Given the description of an element on the screen output the (x, y) to click on. 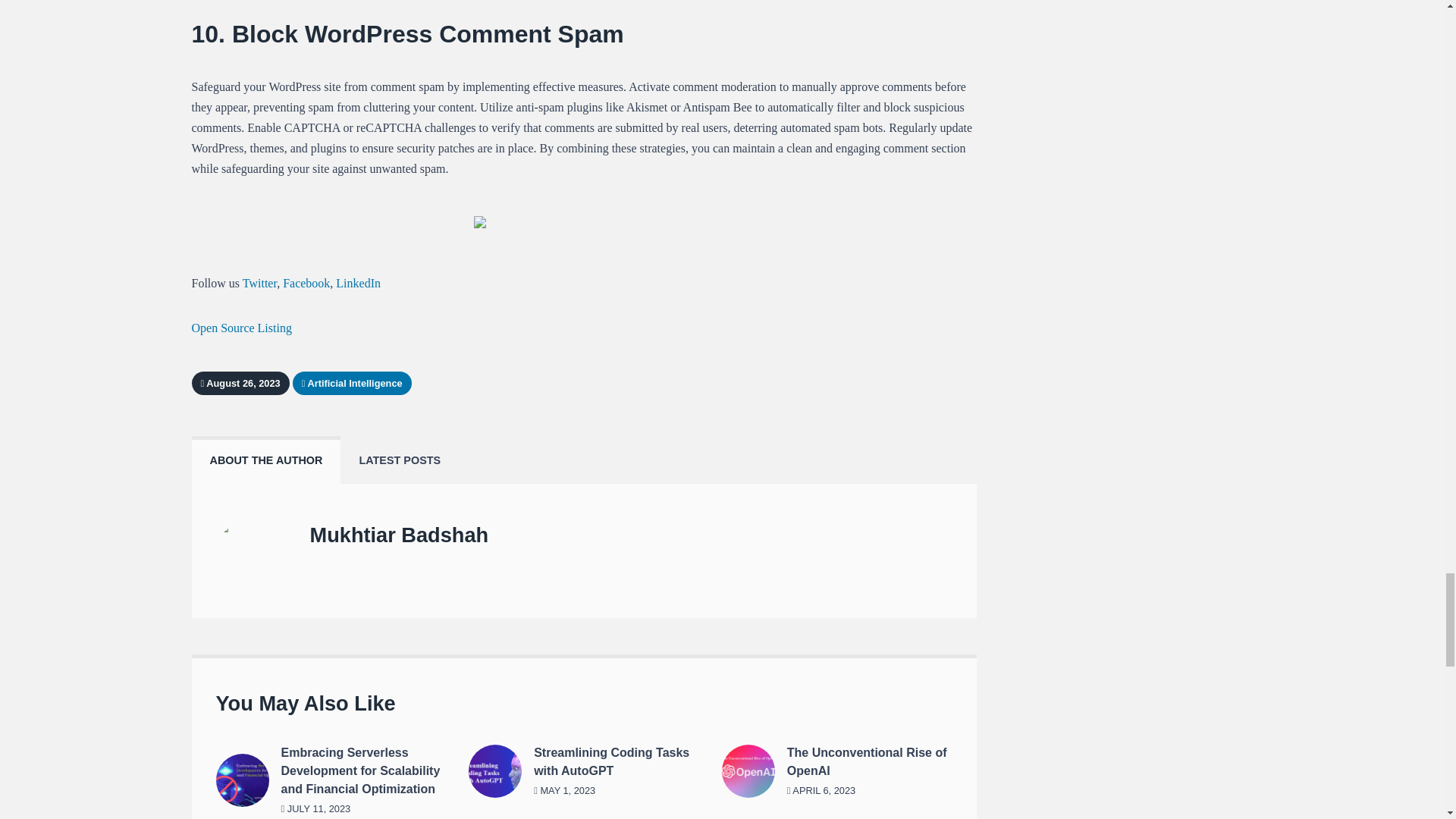
LinkedIn (358, 282)
Twitter (259, 282)
ABOUT THE AUTHOR (265, 459)
LATEST POSTS (399, 459)
Artificial Intelligence (353, 382)
Facebook (306, 282)
Mukhtiar Badshah (397, 535)
Open Source Listing (240, 327)
